Given the description of an element on the screen output the (x, y) to click on. 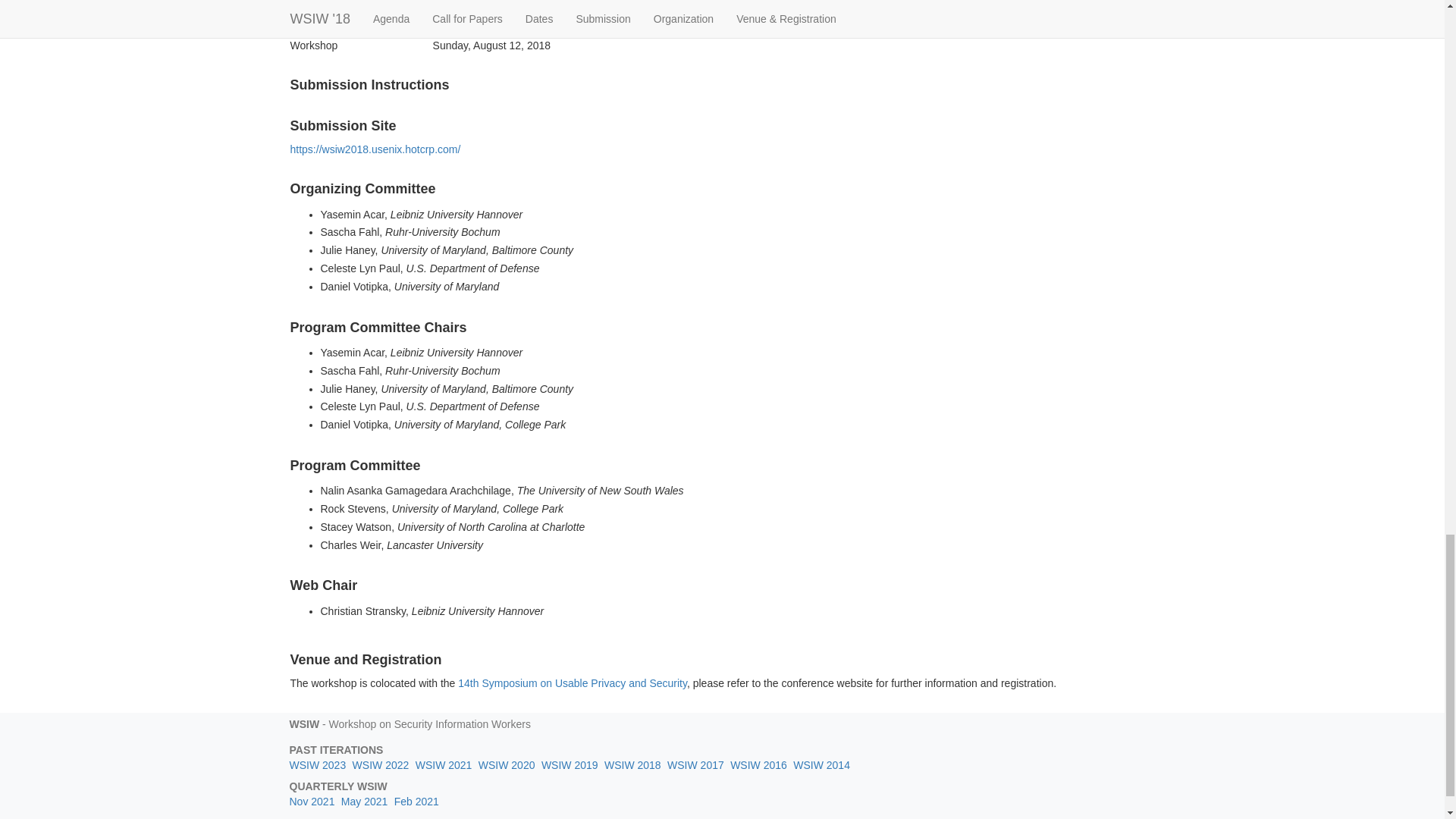
WSIW 2016 (758, 765)
May 2021 (363, 801)
WSIW 2023 (317, 765)
WSIW 2017 (694, 765)
WSIW 2020 (507, 765)
WSIW 2018 (632, 765)
Nov 2021 (311, 801)
WSIW 2014 (821, 765)
Feb 2021 (416, 801)
WSIW 2019 (569, 765)
WSIW 2022 (380, 765)
14th Symposium on Usable Privacy and Security (572, 683)
WSIW 2021 (442, 765)
